Given the description of an element on the screen output the (x, y) to click on. 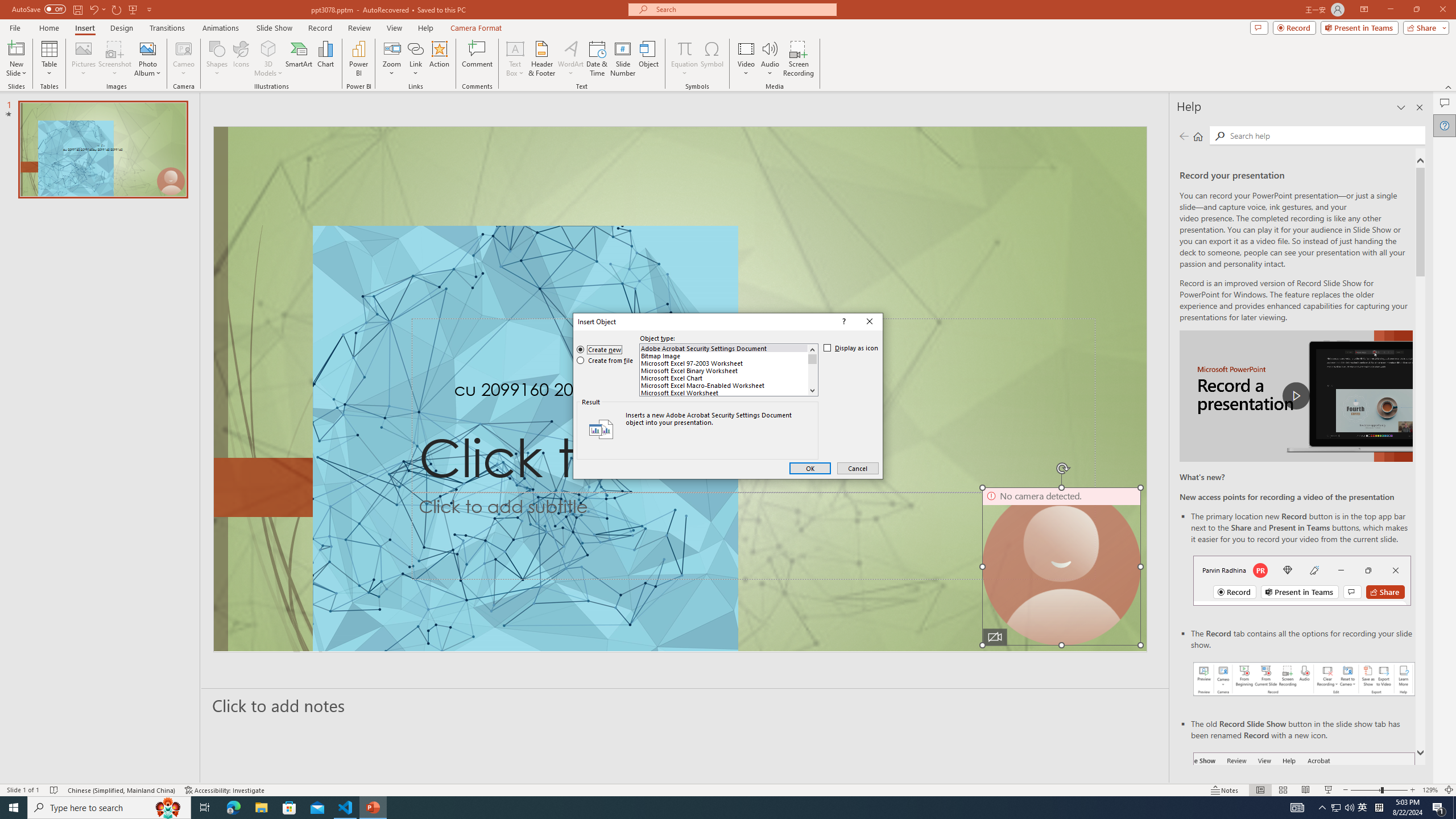
Link (415, 48)
Subtitle TextBox (753, 535)
New Photo Album... (147, 48)
Context help (842, 321)
Equation (683, 58)
Equation (683, 48)
3D Models (268, 48)
